Given the description of an element on the screen output the (x, y) to click on. 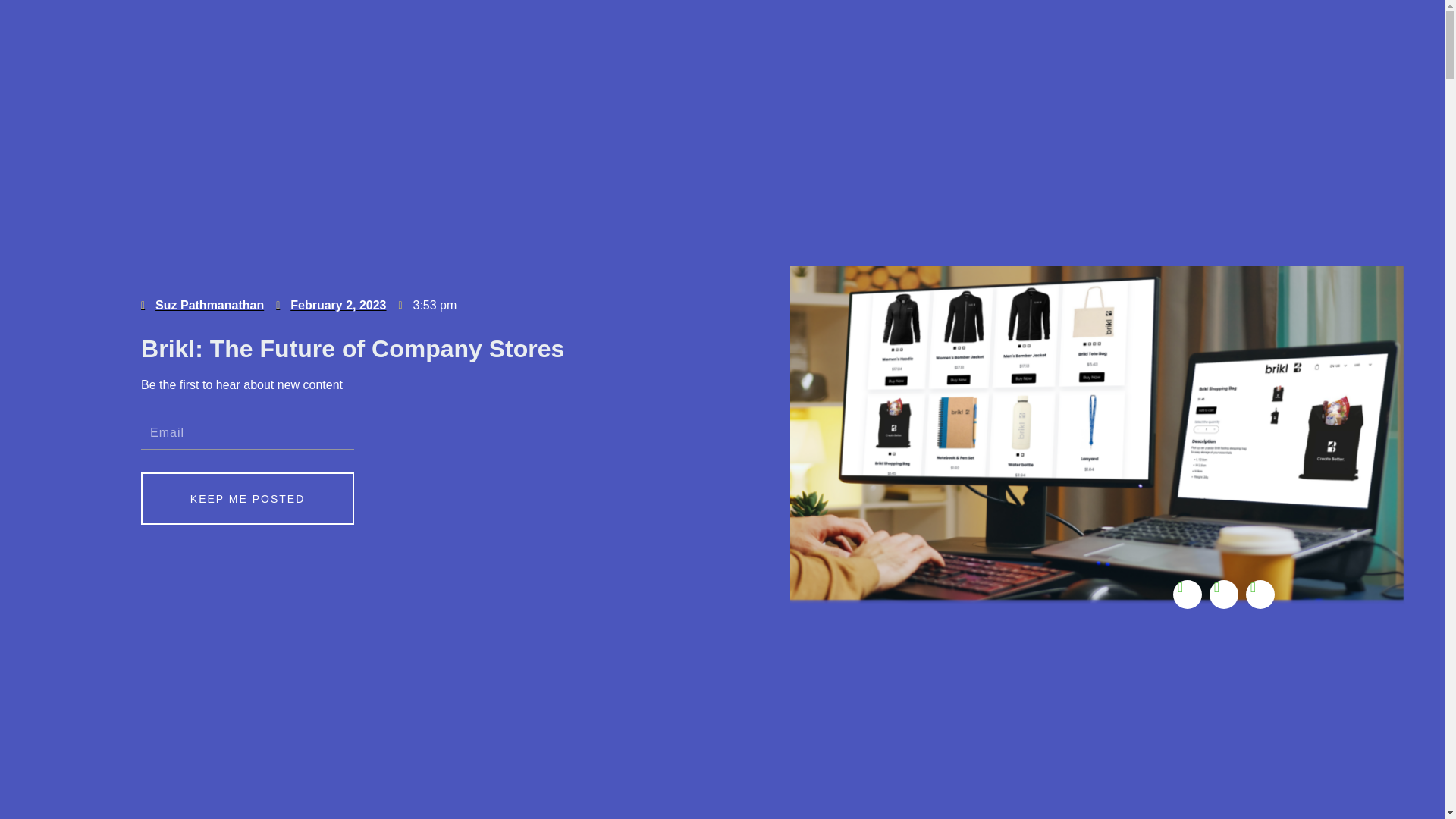
Suz Pathmanathan (202, 305)
Youtube (1224, 593)
Linkedin (1187, 593)
February 2, 2023 (330, 305)
KEEP ME POSTED (247, 498)
Instagram (1260, 593)
